Given the description of an element on the screen output the (x, y) to click on. 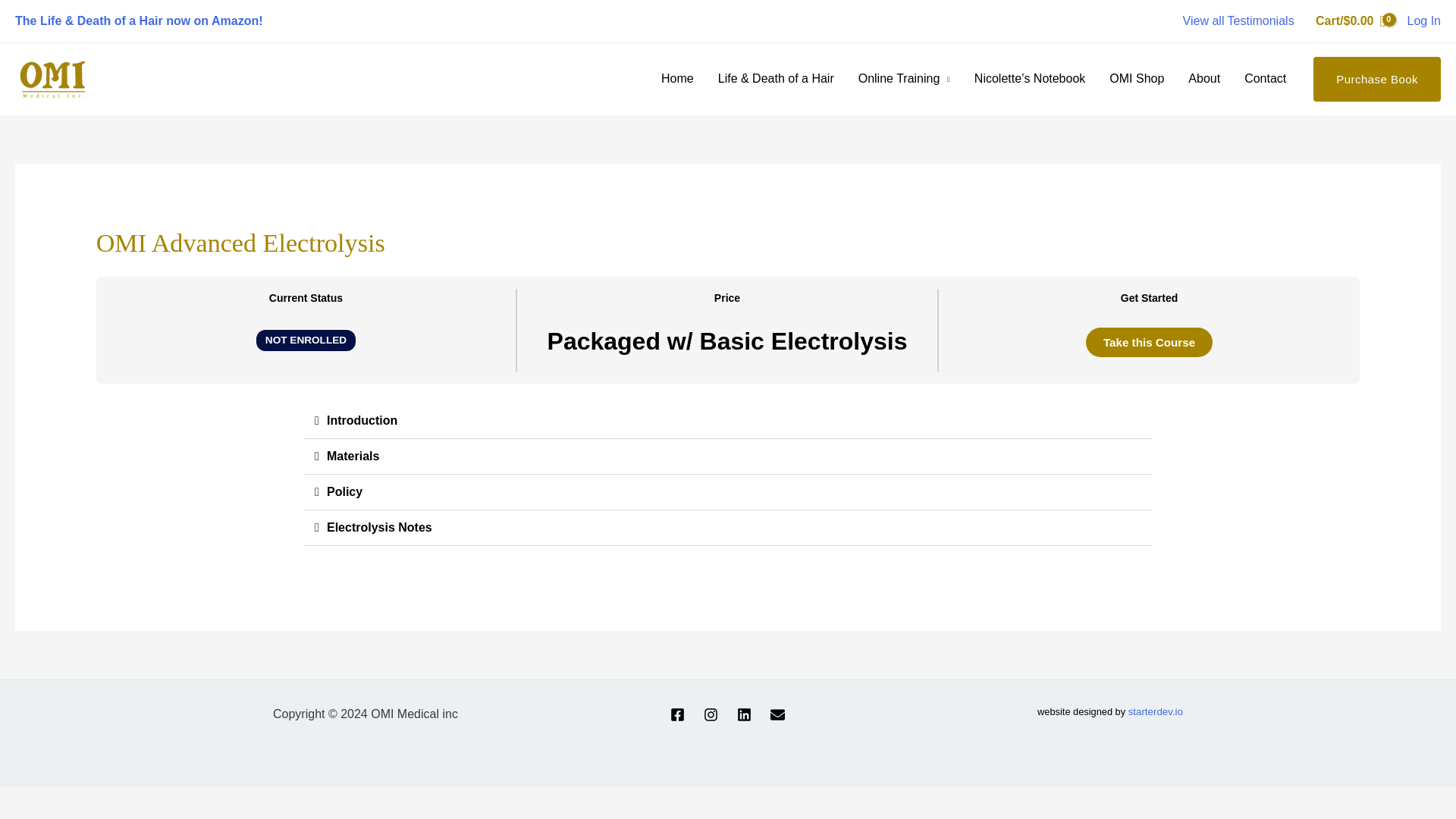
View all Testimonials (1238, 20)
Log In (1424, 20)
Purchase Book (1377, 79)
OMI Shop (1136, 78)
Contact (1264, 78)
Home (677, 78)
Online Training (903, 78)
About (1203, 78)
